Given the description of an element on the screen output the (x, y) to click on. 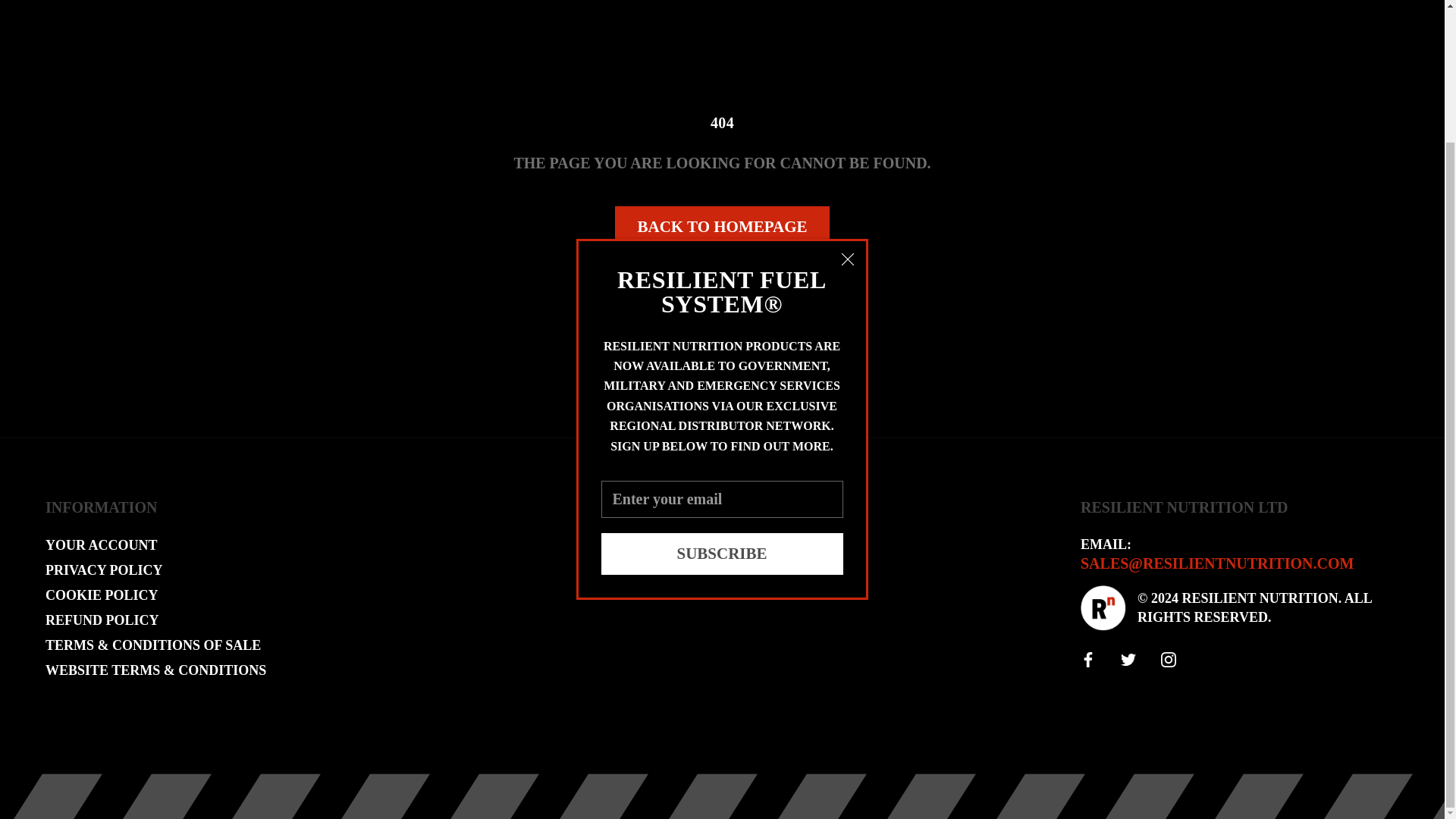
BLOG (673, 570)
COOKIE POLICY (155, 595)
FAQS (673, 545)
YOUR ACCOUNT (155, 545)
SUBSCRIBE (721, 392)
PRIVACY POLICY (155, 570)
REFUND POLICY (155, 620)
CONTACT (673, 595)
BACK TO HOMEPAGE (721, 227)
